Given the description of an element on the screen output the (x, y) to click on. 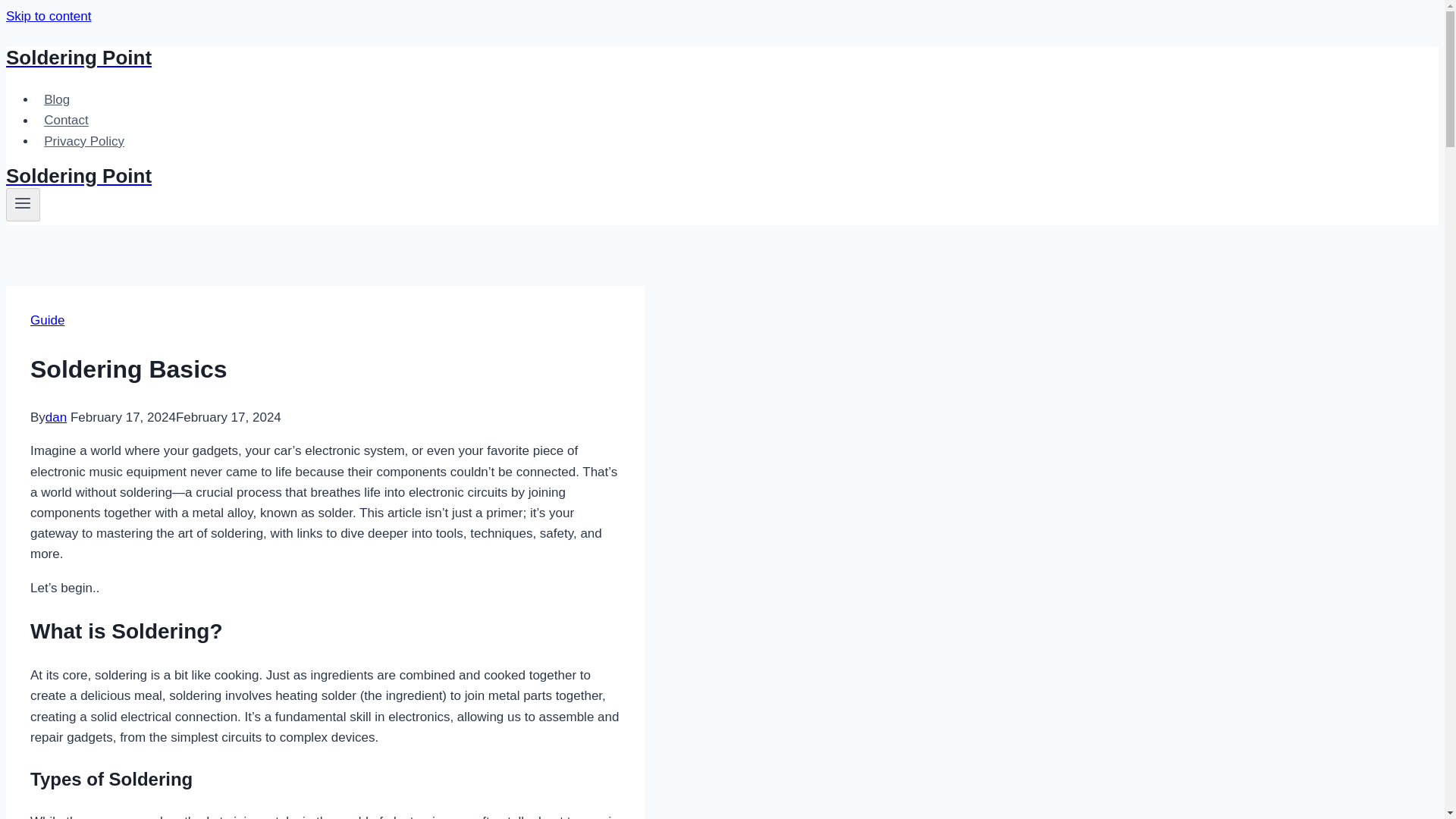
Privacy Policy (84, 141)
Toggle Menu (22, 203)
Contact (66, 120)
Soldering Point (494, 176)
Blog (56, 99)
Toggle Menu (22, 204)
Skip to content (47, 16)
Guide (47, 319)
Skip to content (47, 16)
dan (55, 417)
